Given the description of an element on the screen output the (x, y) to click on. 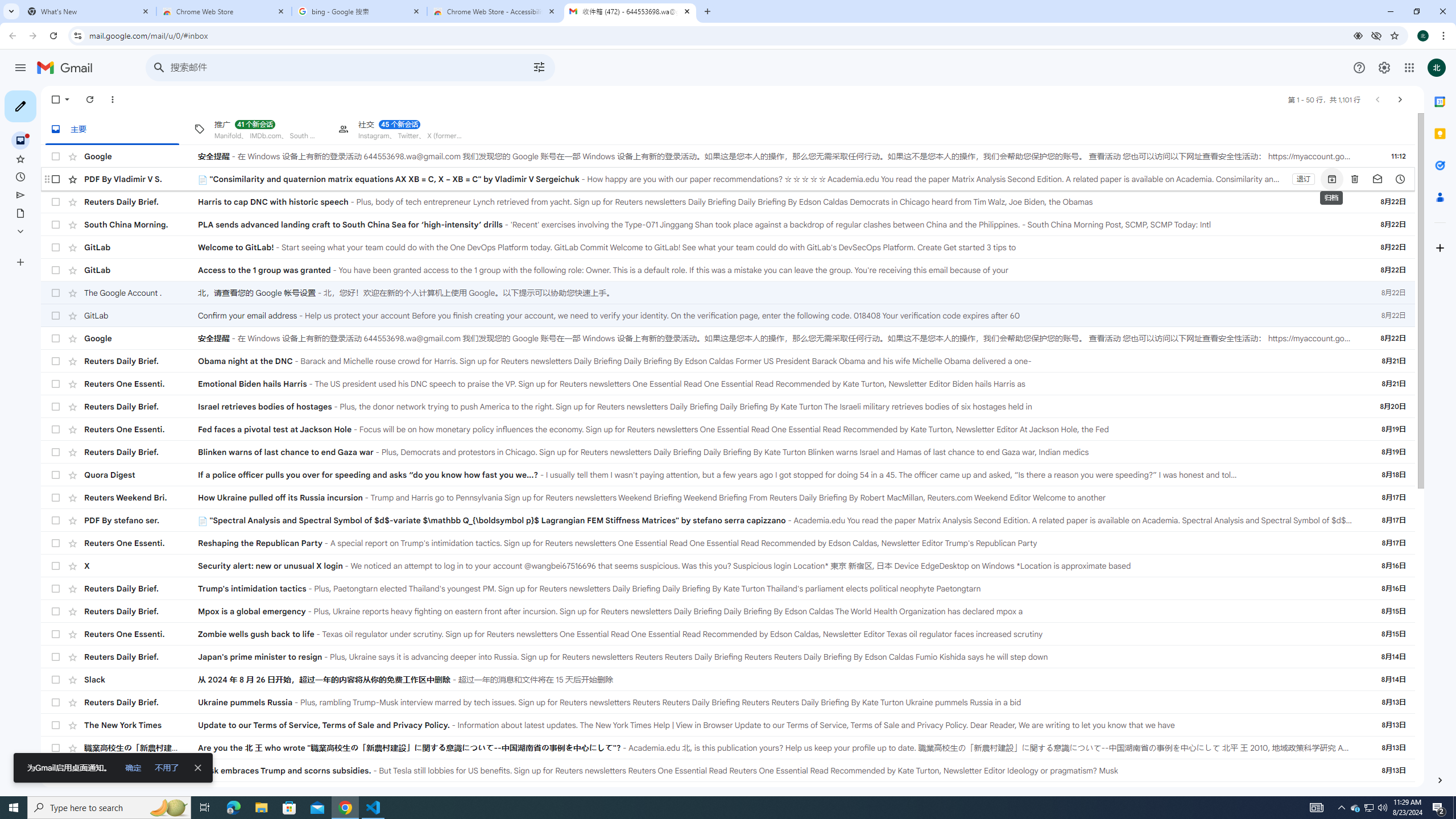
Gmail (67, 68)
